Given the description of an element on the screen output the (x, y) to click on. 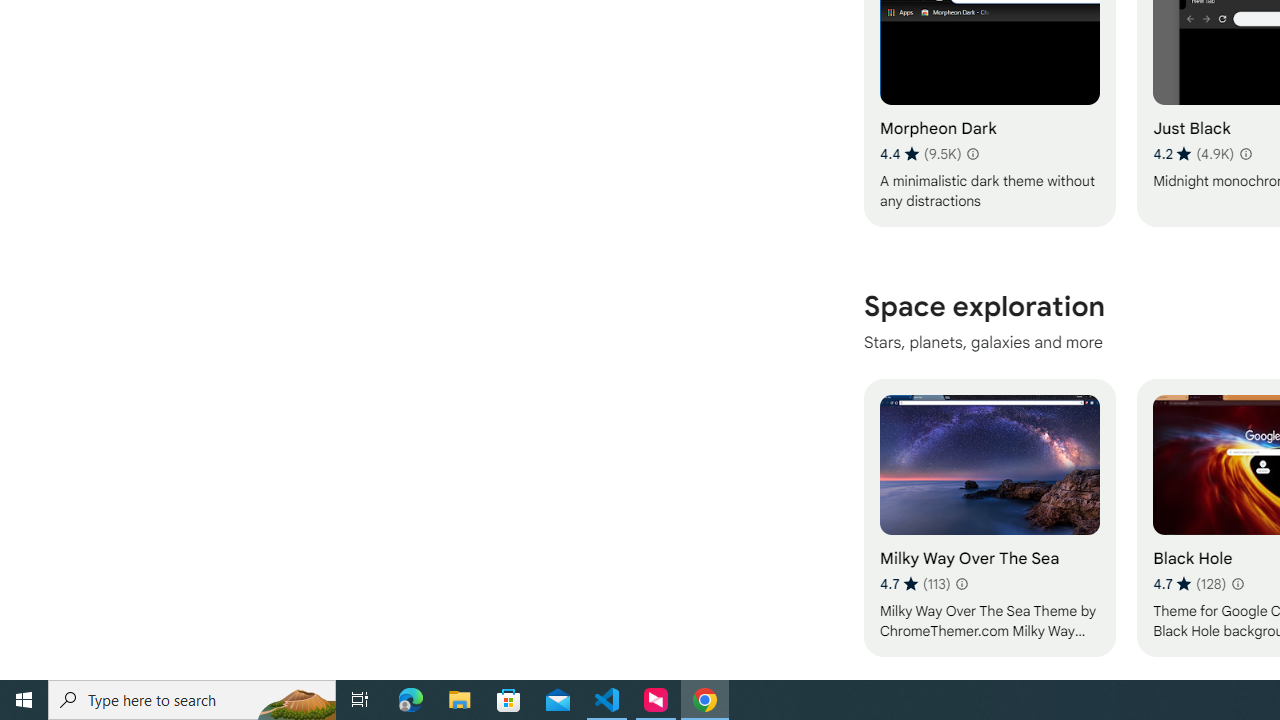
Average rating 4.7 out of 5 stars. 113 ratings. (915, 583)
Average rating 4.4 out of 5 stars. 9.5K ratings. (920, 154)
Learn more about results and reviews "Just Black" (1244, 153)
Average rating 4.7 out of 5 stars. 128 ratings. (1189, 583)
Learn more about results and reviews "Black Hole" (1236, 583)
Milky Way Over The Sea (989, 517)
Average rating 4.2 out of 5 stars. 4.9K ratings. (1192, 154)
Learn more about results and reviews "Morpheon Dark" (971, 153)
